Given the description of an element on the screen output the (x, y) to click on. 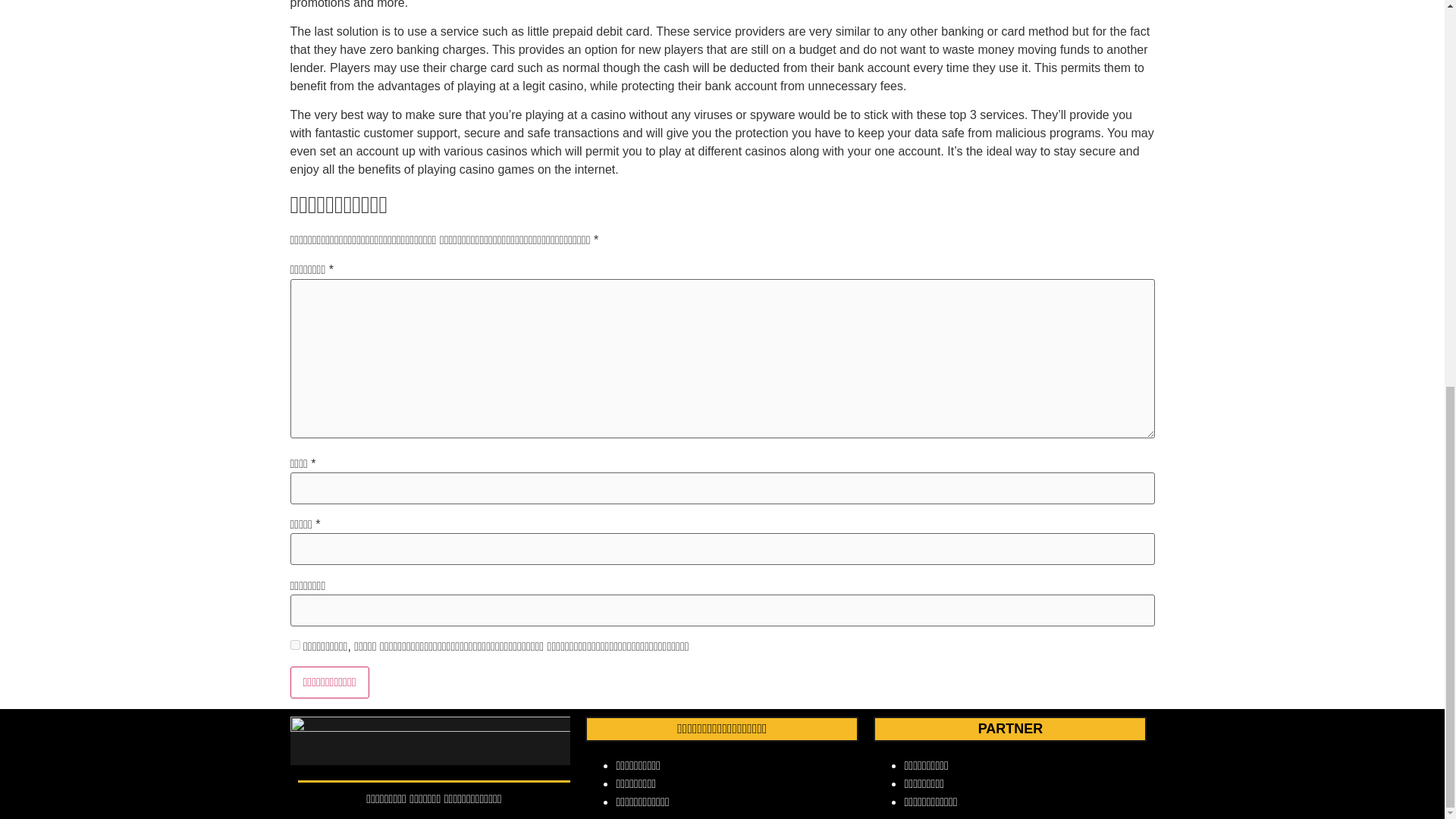
yes (294, 644)
